Given the description of an element on the screen output the (x, y) to click on. 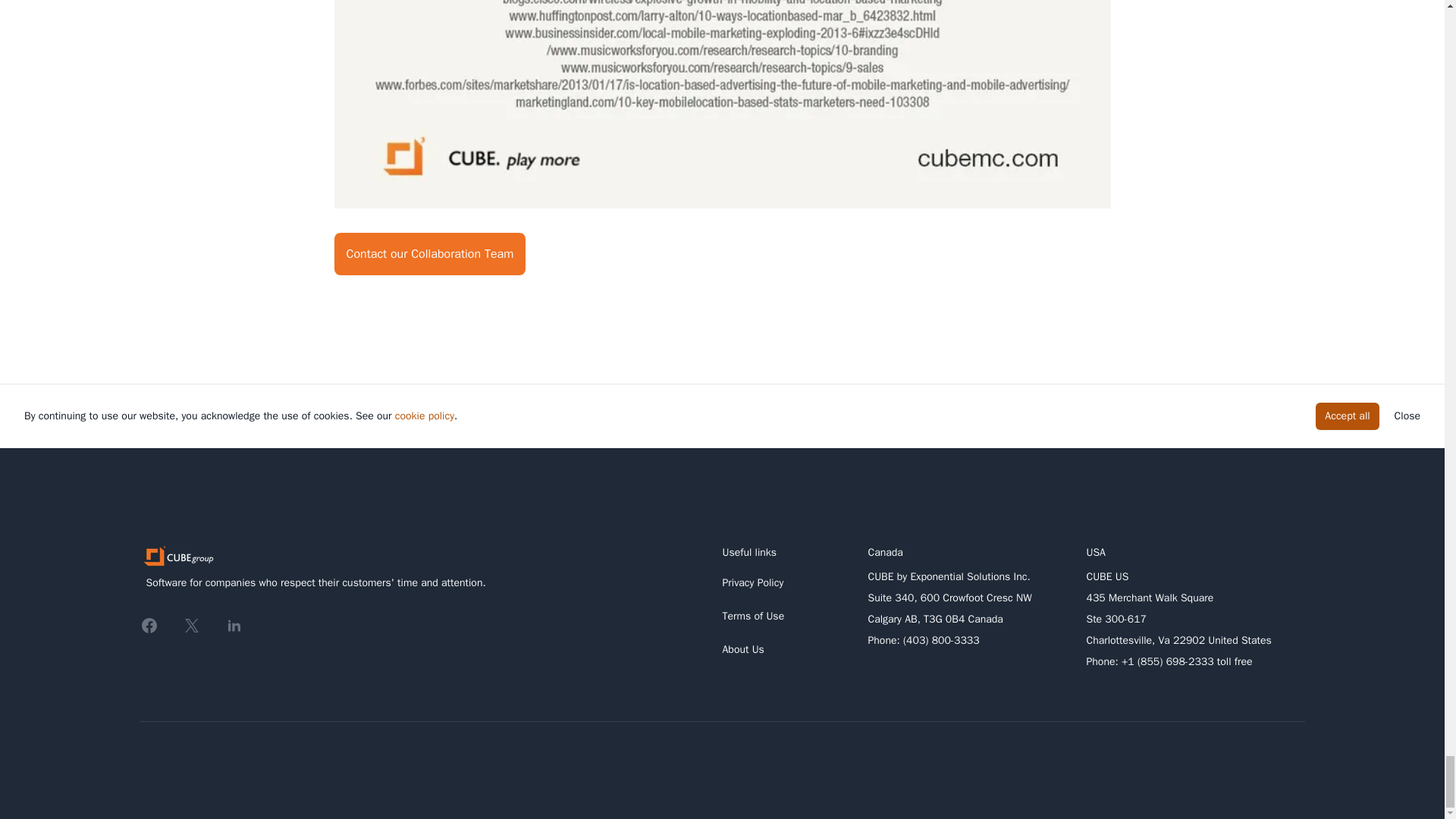
Facebook (148, 625)
Privacy Policy (752, 582)
X (191, 625)
Contact our Collaboration Team (429, 253)
About Us (742, 649)
Terms of Use (753, 615)
LinkedIn (233, 625)
